Given the description of an element on the screen output the (x, y) to click on. 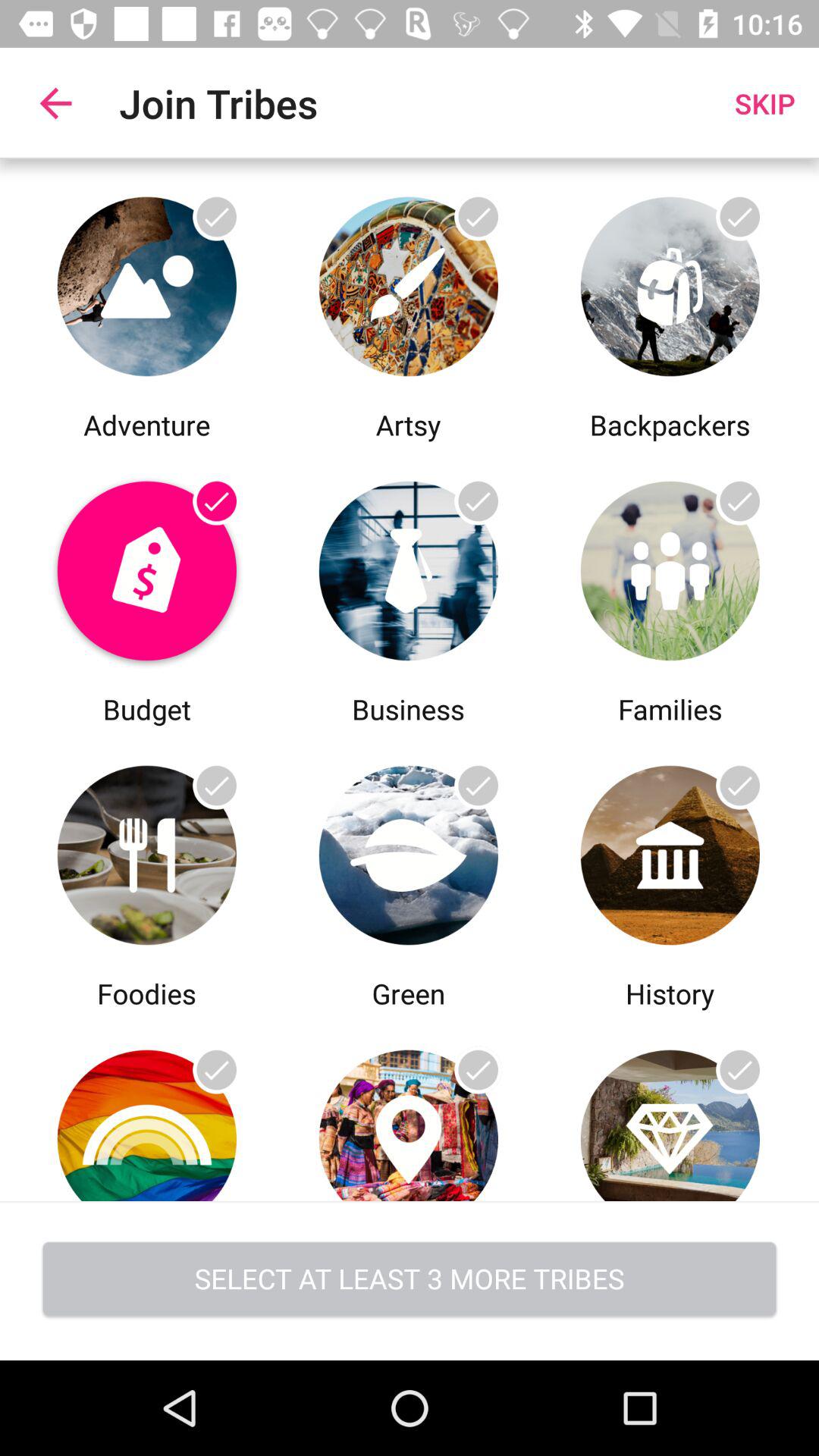
select a group to join (146, 851)
